Given the description of an element on the screen output the (x, y) to click on. 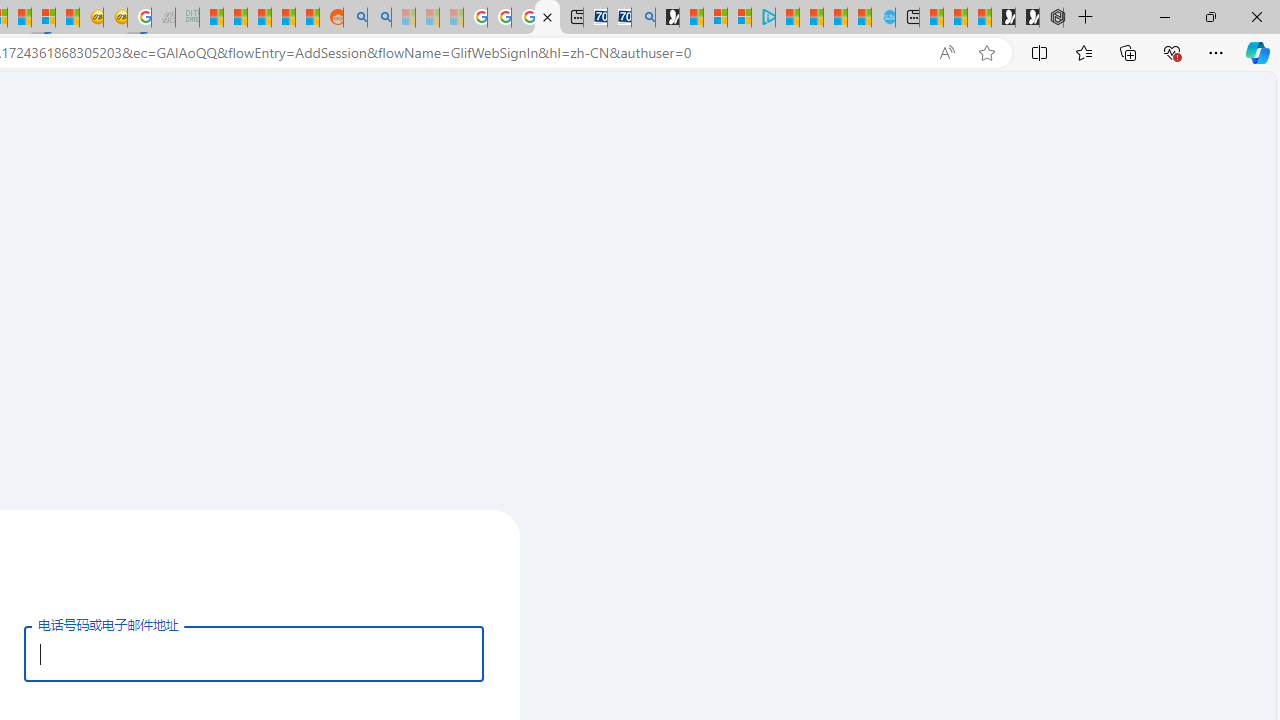
DITOGAMES AG Imprint - Sleeping (186, 17)
Cheap Car Rentals - Save70.com (619, 17)
Nordace - Nordace Siena Is Not An Ordinary Backpack (1051, 17)
Student Loan Update: Forgiveness Program Ends This Month (283, 17)
